Given the description of an element on the screen output the (x, y) to click on. 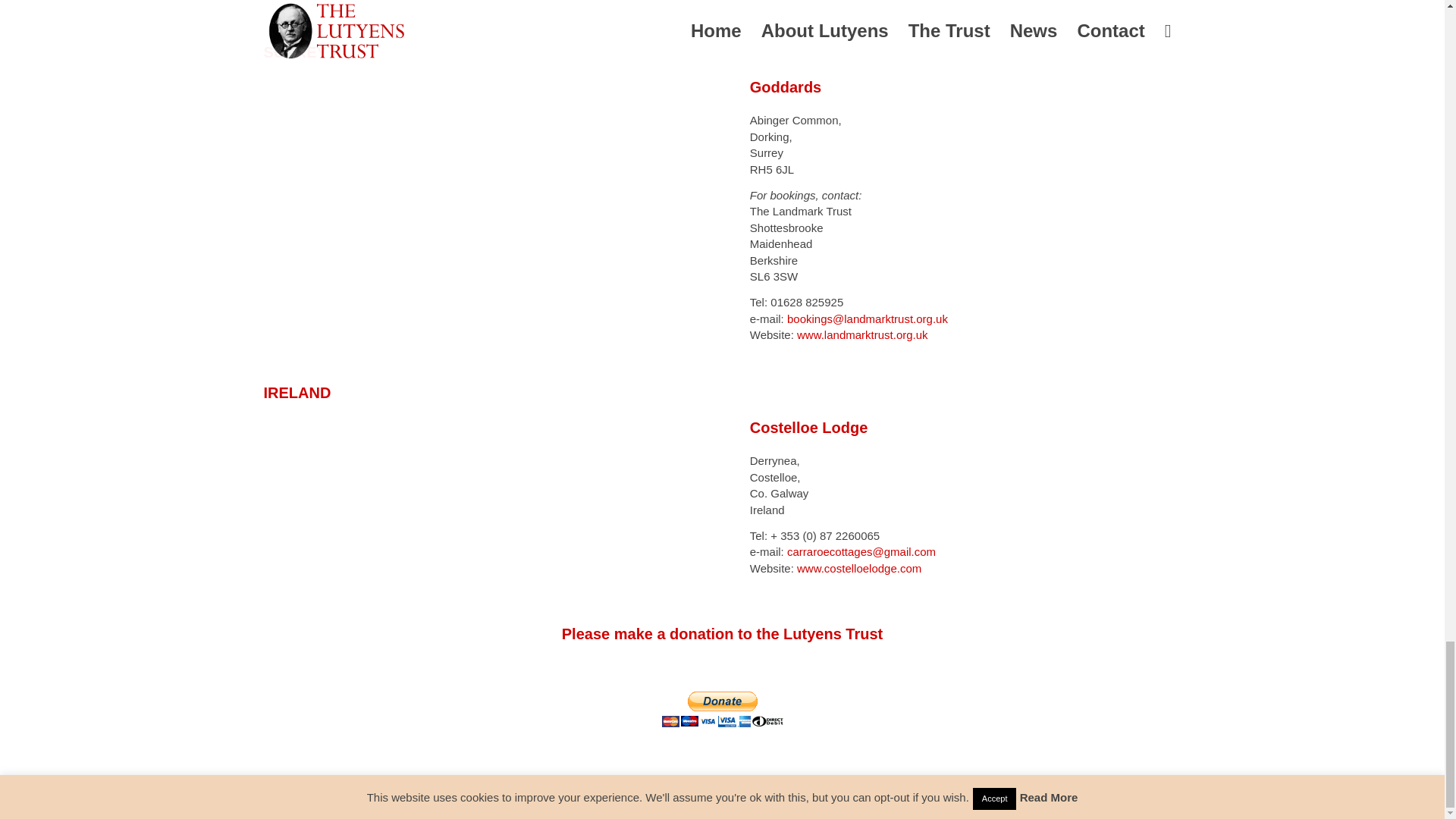
PayPal - The safer, easier way to pay online! (722, 709)
